Given the description of an element on the screen output the (x, y) to click on. 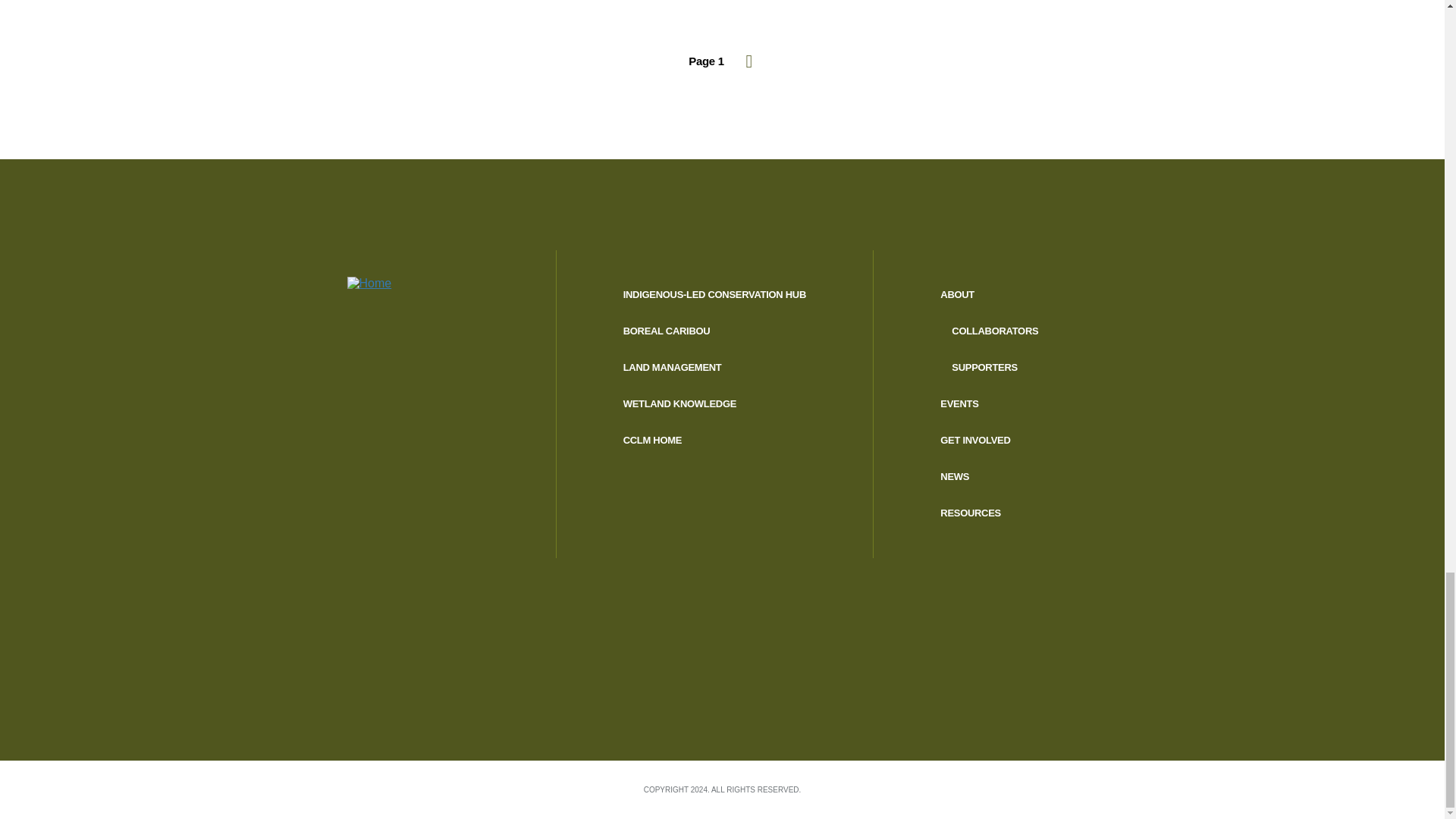
Go to next page (748, 61)
Home (439, 299)
